Given the description of an element on the screen output the (x, y) to click on. 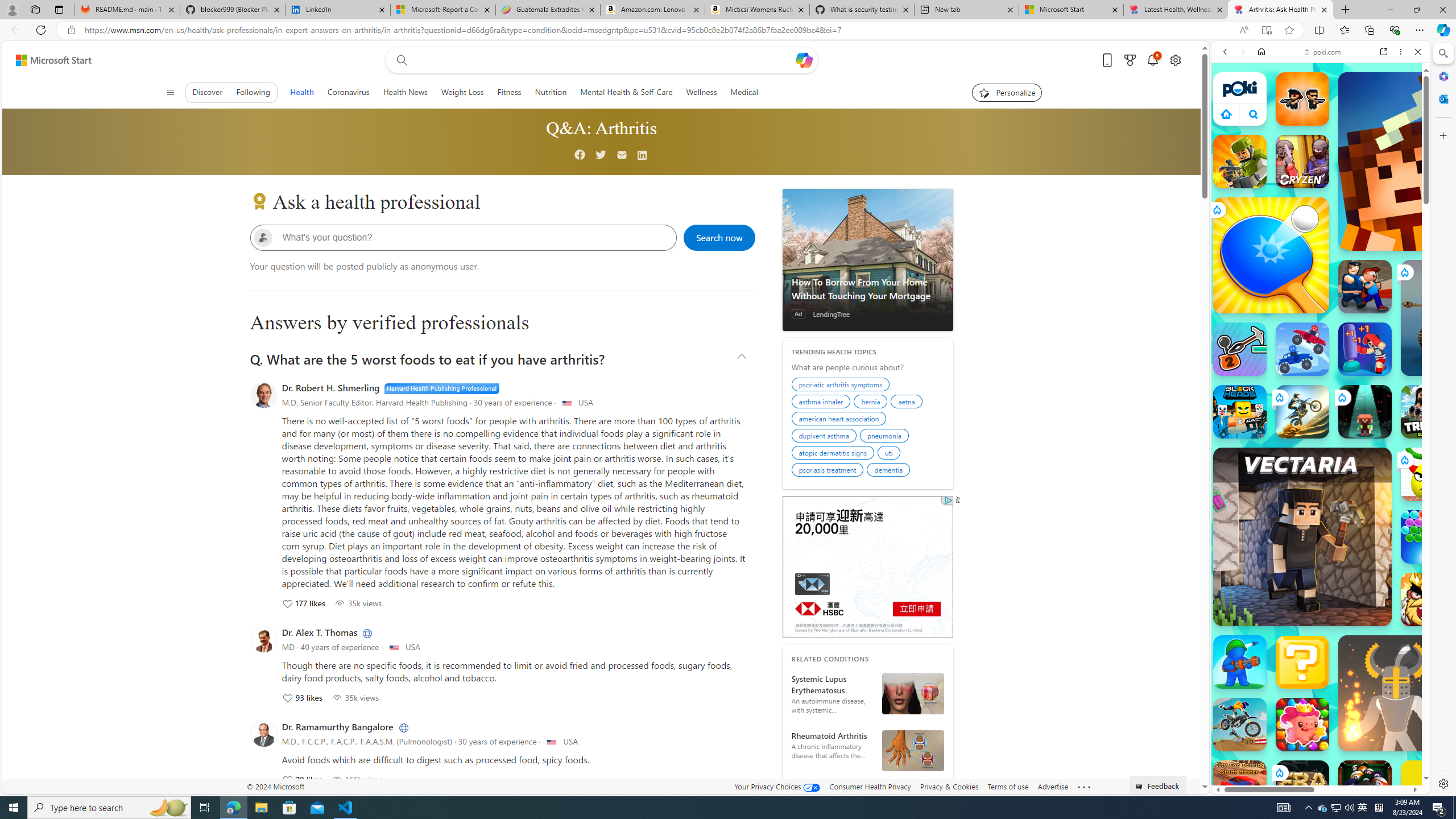
Show More Two Player Games (1390, 323)
Ragdoll Hit (1396, 693)
dementia (890, 470)
Poki (1315, 754)
Kour.io Kour.io (1239, 161)
Combat Reloaded Combat Reloaded poki.com (1349, 548)
